Given the description of an element on the screen output the (x, y) to click on. 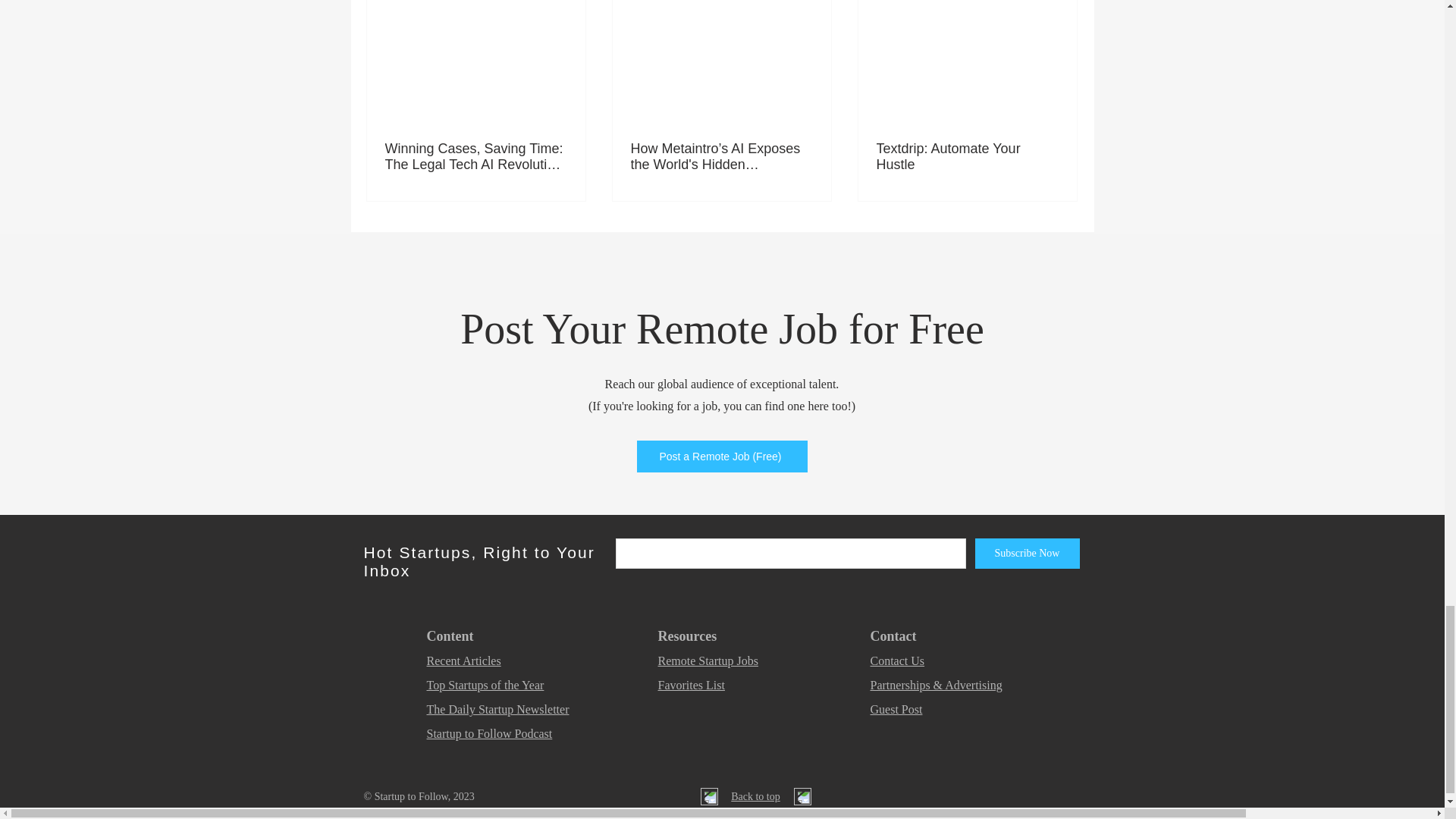
Top Startups of the Year (484, 684)
Recent Articles (463, 660)
Guest Post (896, 708)
Contact Us (897, 660)
Textdrip: Automate Your Hustle (967, 156)
Startup to Follow Podcast (488, 733)
Subscribe Now (1027, 553)
Favorites List (691, 684)
The Daily Startup Newsletter (497, 708)
